Given the description of an element on the screen output the (x, y) to click on. 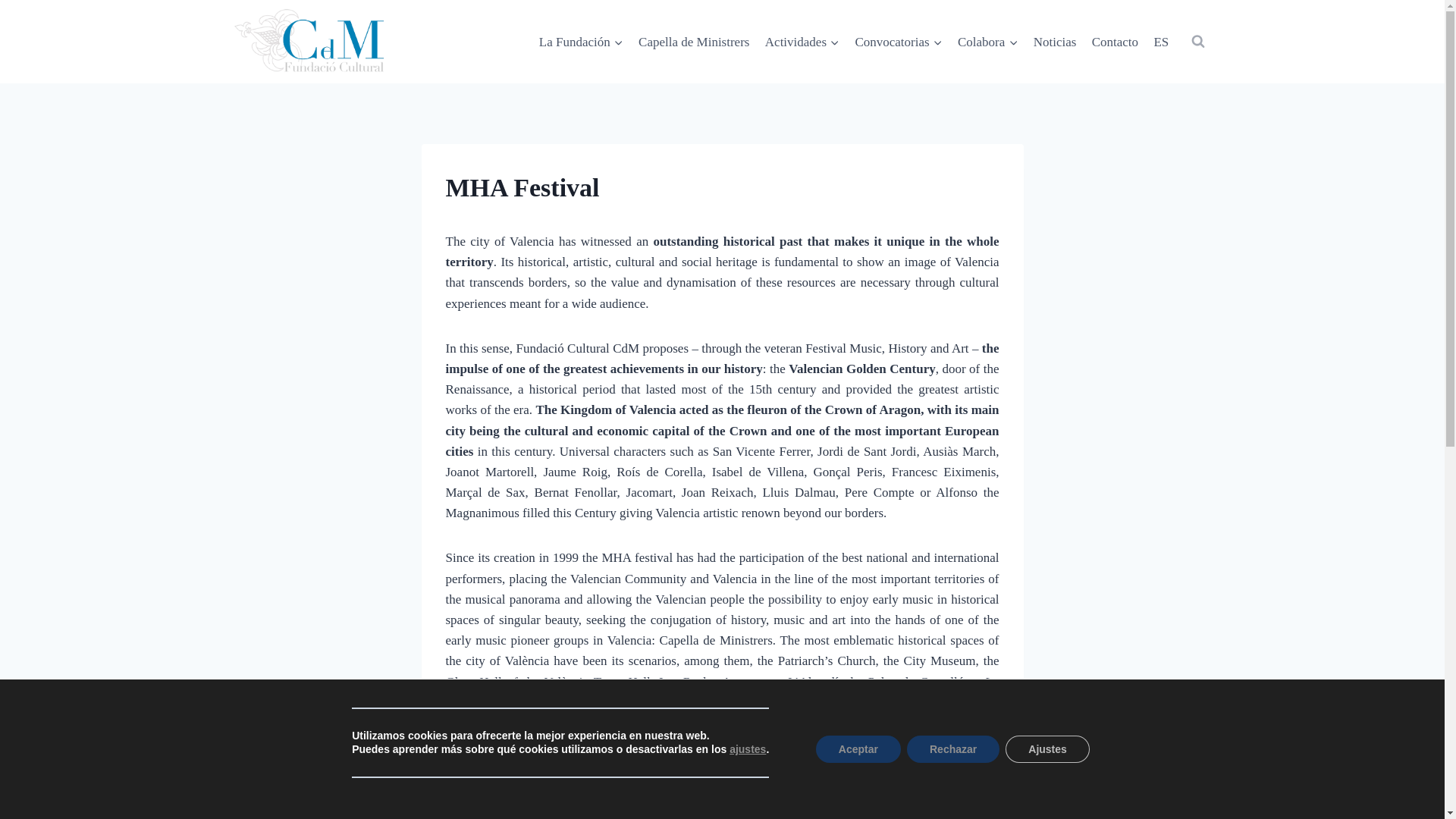
Capella de Ministrers (693, 41)
Actividades (802, 41)
